Given the description of an element on the screen output the (x, y) to click on. 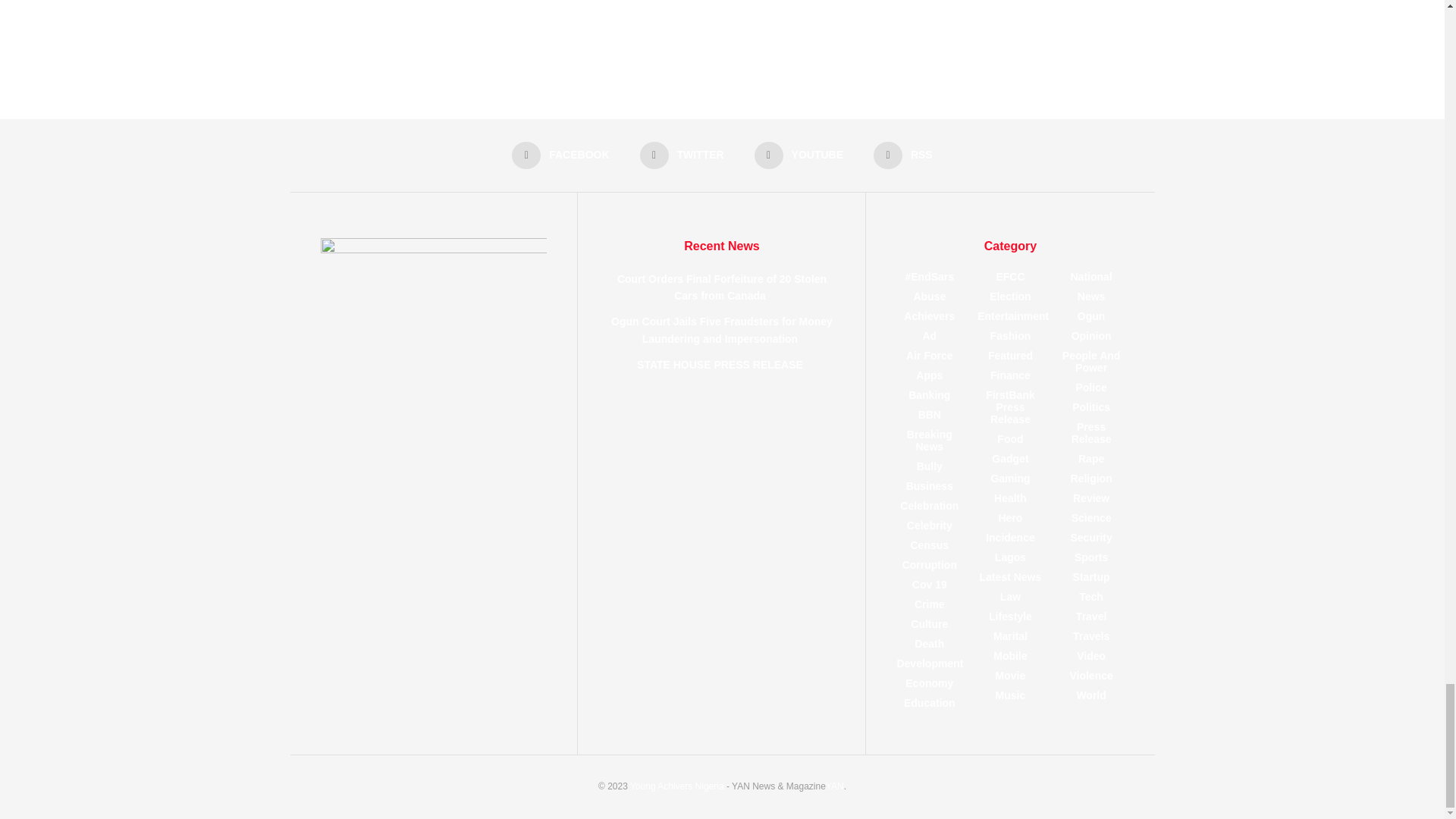
Young Achivers Nigeria Magazine (676, 786)
YAN (834, 786)
